Given the description of an element on the screen output the (x, y) to click on. 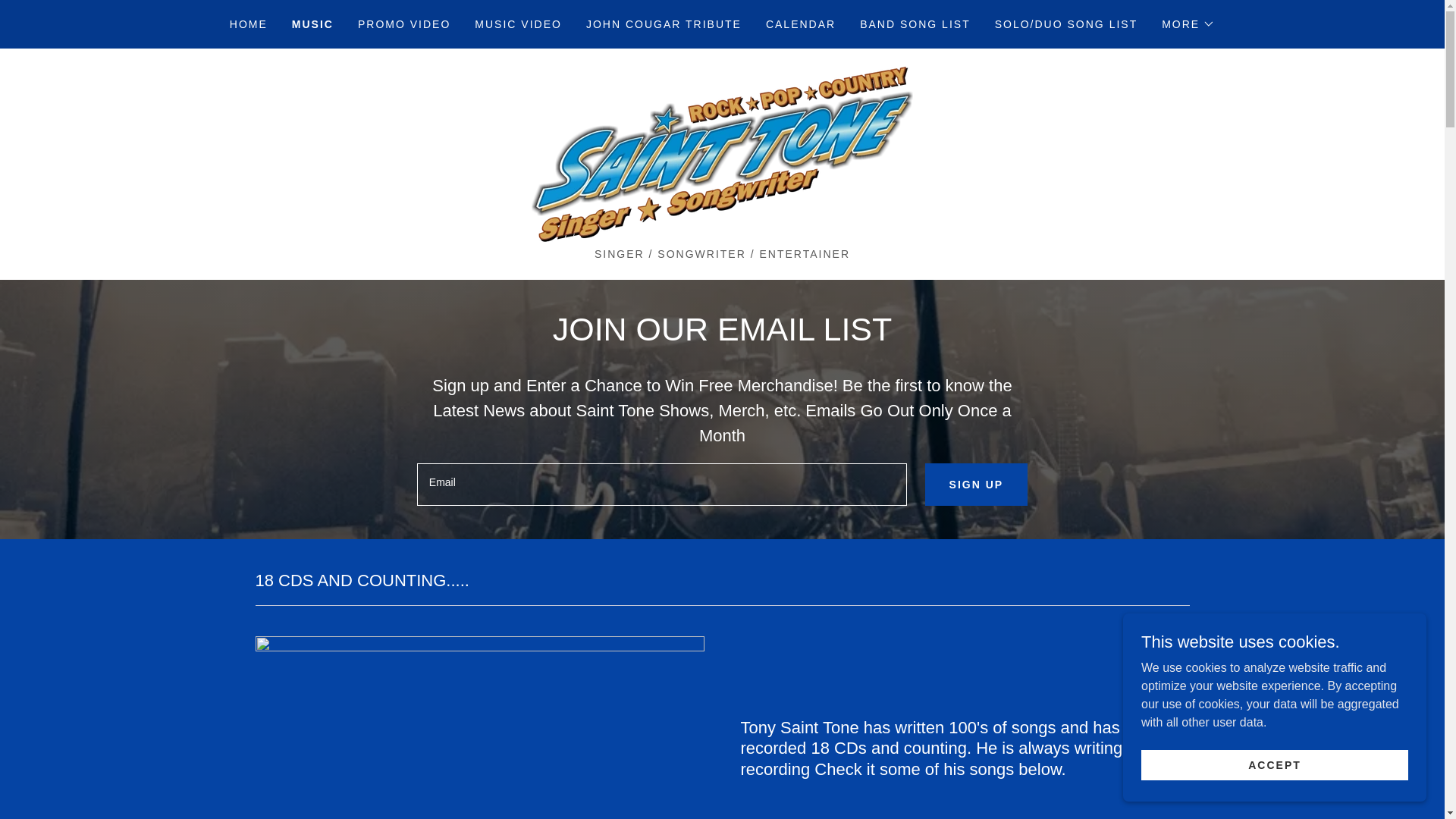
Saint Tone (721, 153)
JOHN COUGAR TRIBUTE (662, 23)
SIGN UP (975, 484)
HOME (248, 23)
PROMO VIDEO (403, 23)
CALENDAR (800, 23)
MUSIC VIDEO (518, 23)
MORE (1187, 24)
MUSIC (312, 24)
BAND SONG LIST (915, 23)
